Given the description of an element on the screen output the (x, y) to click on. 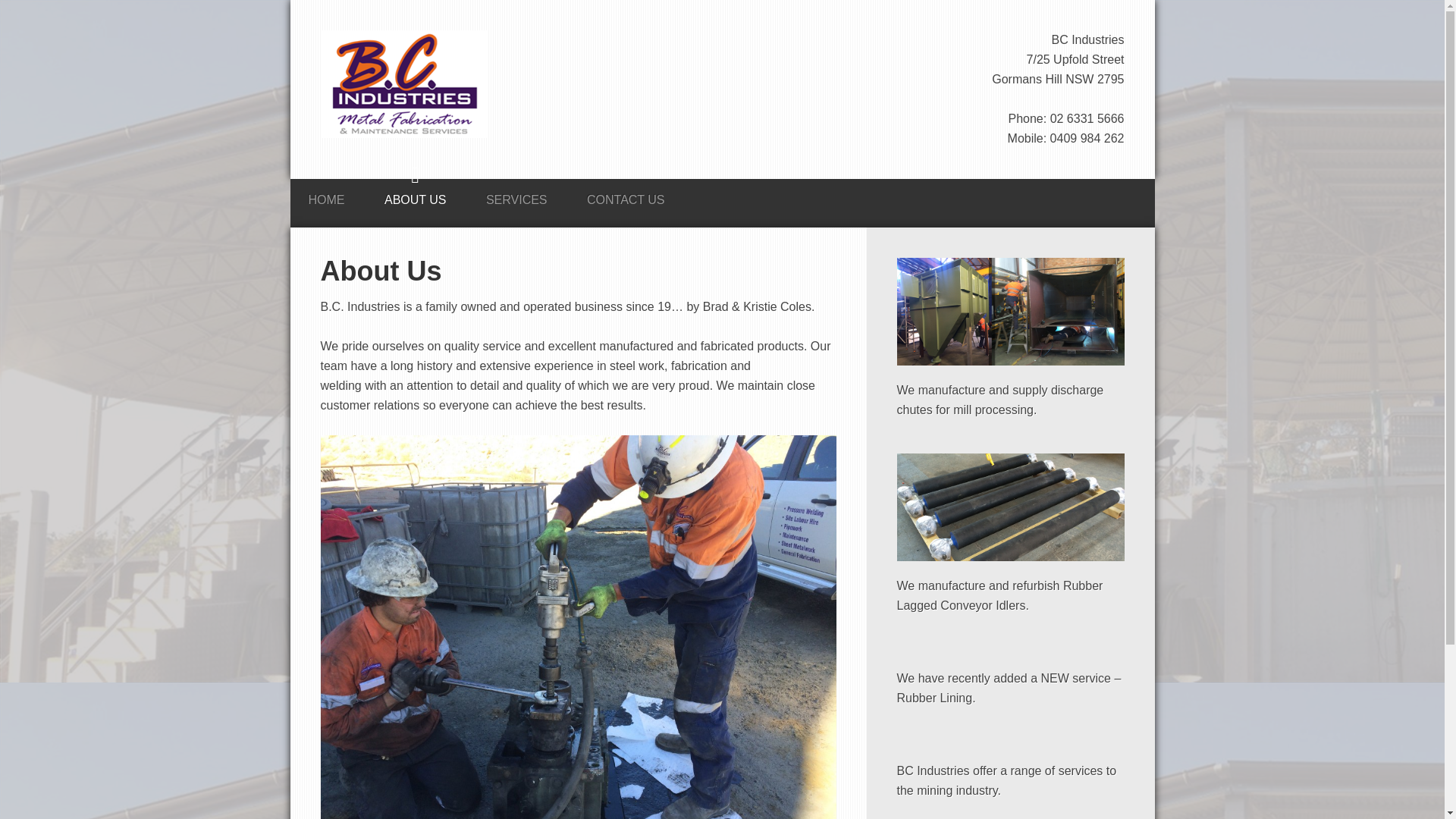
BC INDUSTRIES Element type: text (403, 87)
ABOUT US Element type: text (415, 195)
CONTACT US Element type: text (625, 195)
HOME Element type: text (325, 195)
SERVICES Element type: text (516, 195)
